Given the description of an element on the screen output the (x, y) to click on. 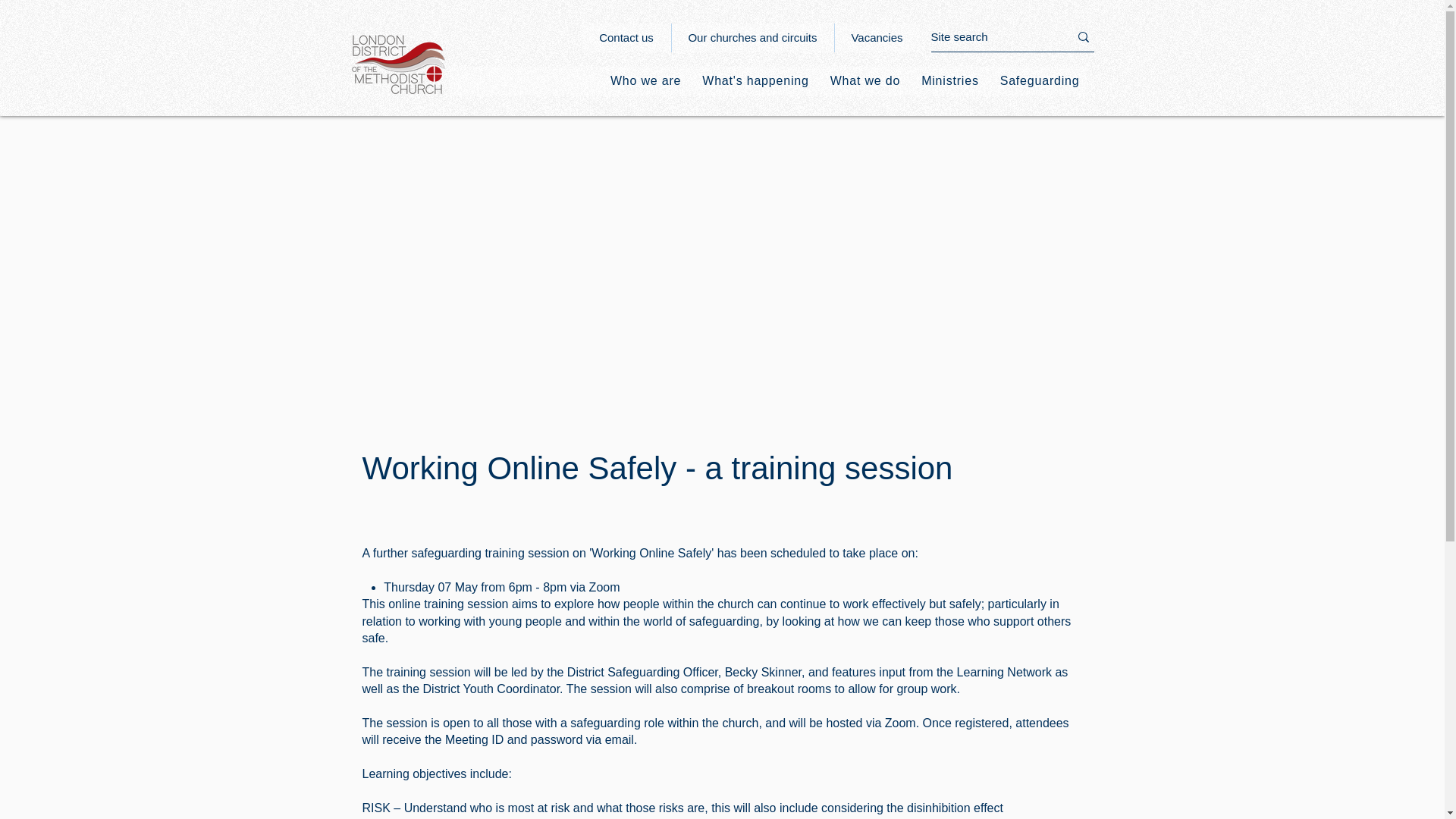
What we do (864, 80)
Vacancies (877, 37)
Our churches and circuits (750, 37)
Contact us (626, 37)
Who we are (645, 80)
